Given the description of an element on the screen output the (x, y) to click on. 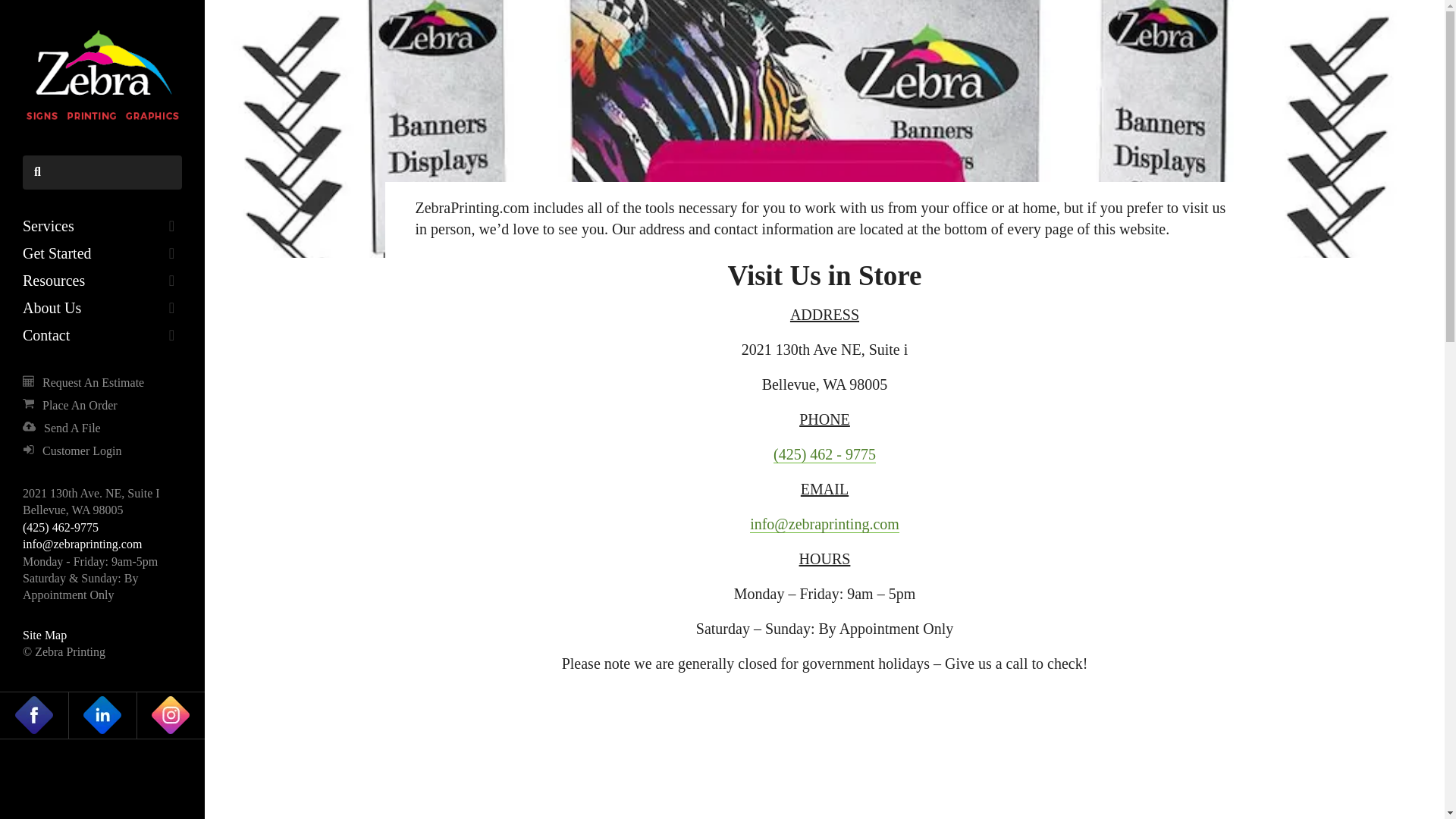
About Us (102, 307)
Contact (102, 334)
Resources (102, 280)
Services (102, 225)
logo (102, 77)
Get Started (102, 252)
